Given the description of an element on the screen output the (x, y) to click on. 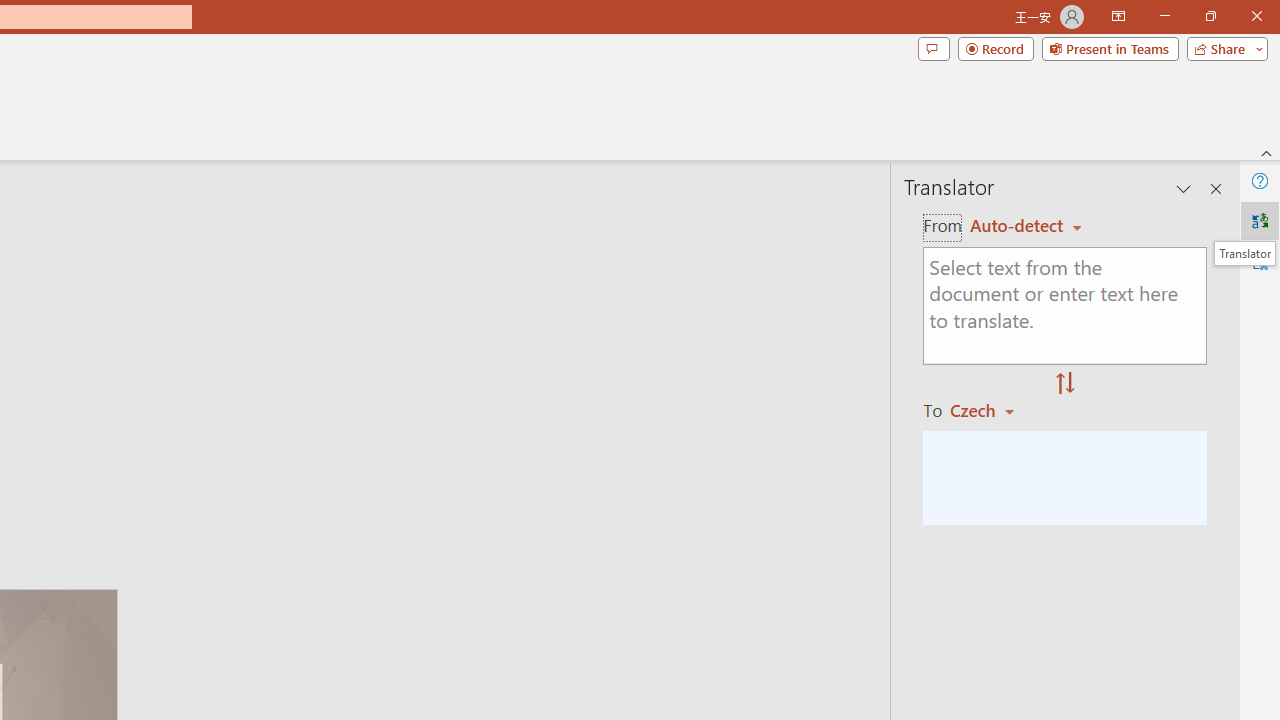
Translator (1244, 253)
Swap "from" and "to" languages. (1065, 383)
English (1025, 225)
